Given the description of an element on the screen output the (x, y) to click on. 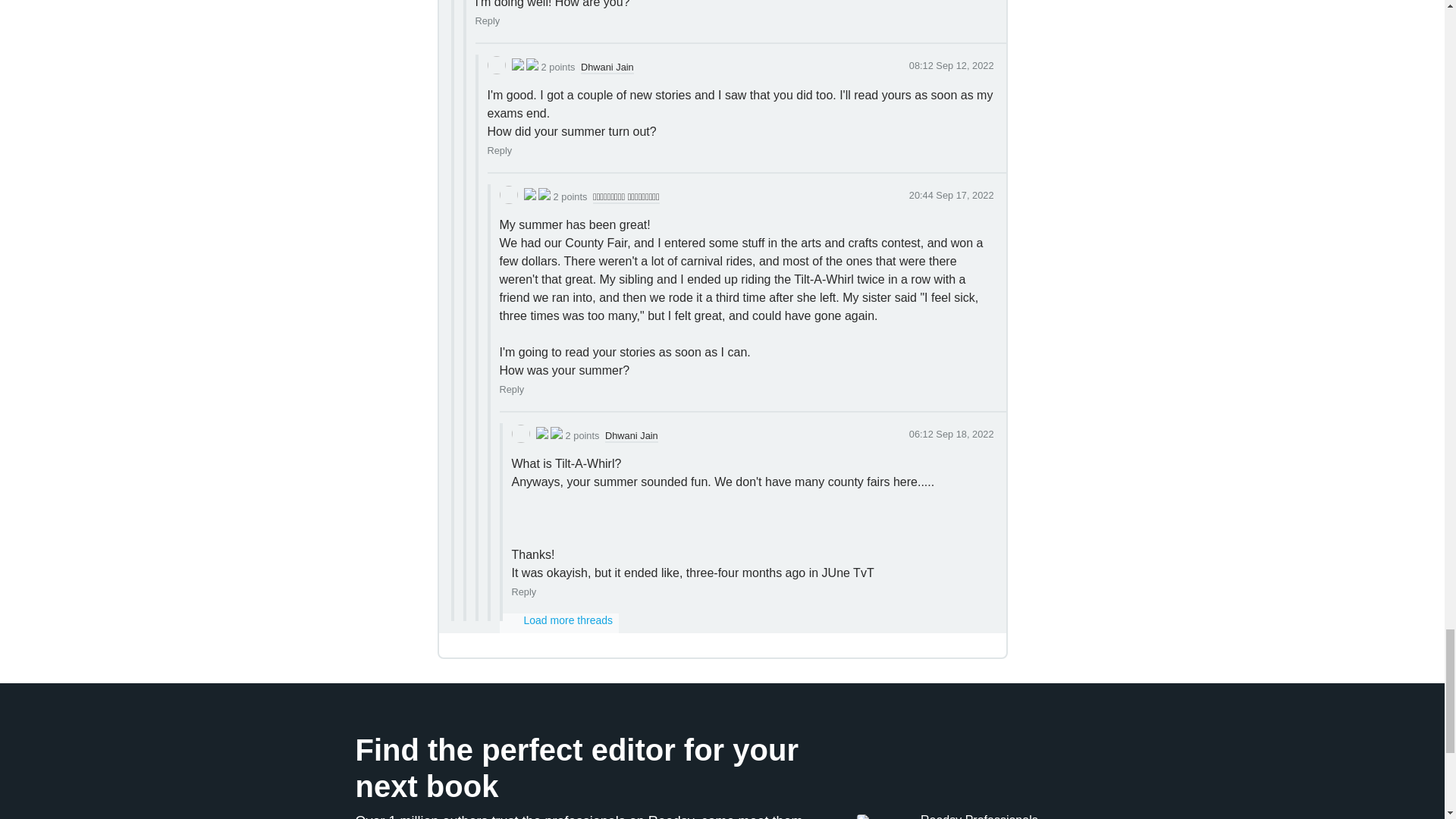
Load more threads (558, 623)
